Given the description of an element on the screen output the (x, y) to click on. 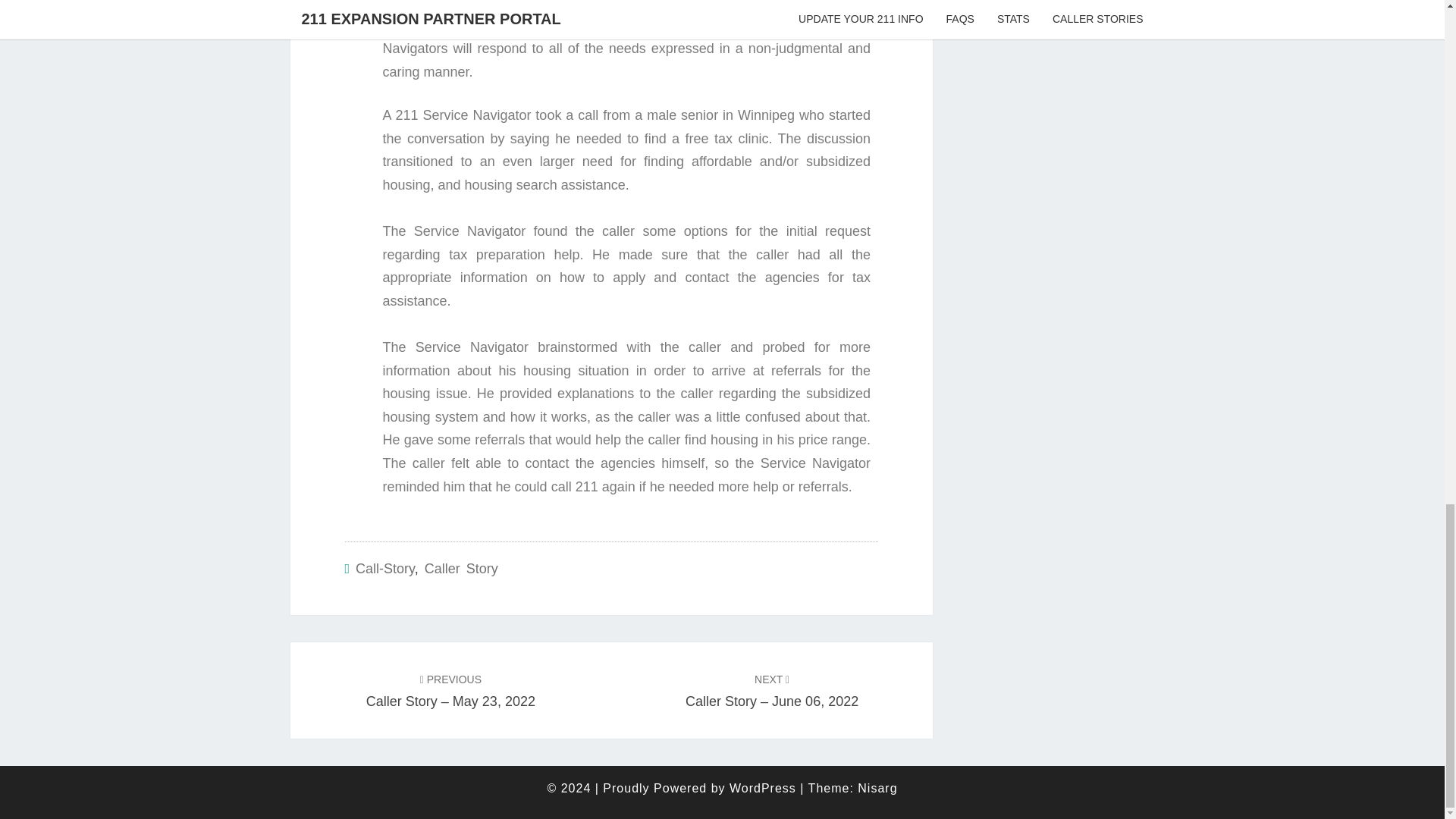
WordPress (762, 788)
Call-Story (384, 568)
Nisarg (876, 788)
Caller Story (461, 568)
